Given the description of an element on the screen output the (x, y) to click on. 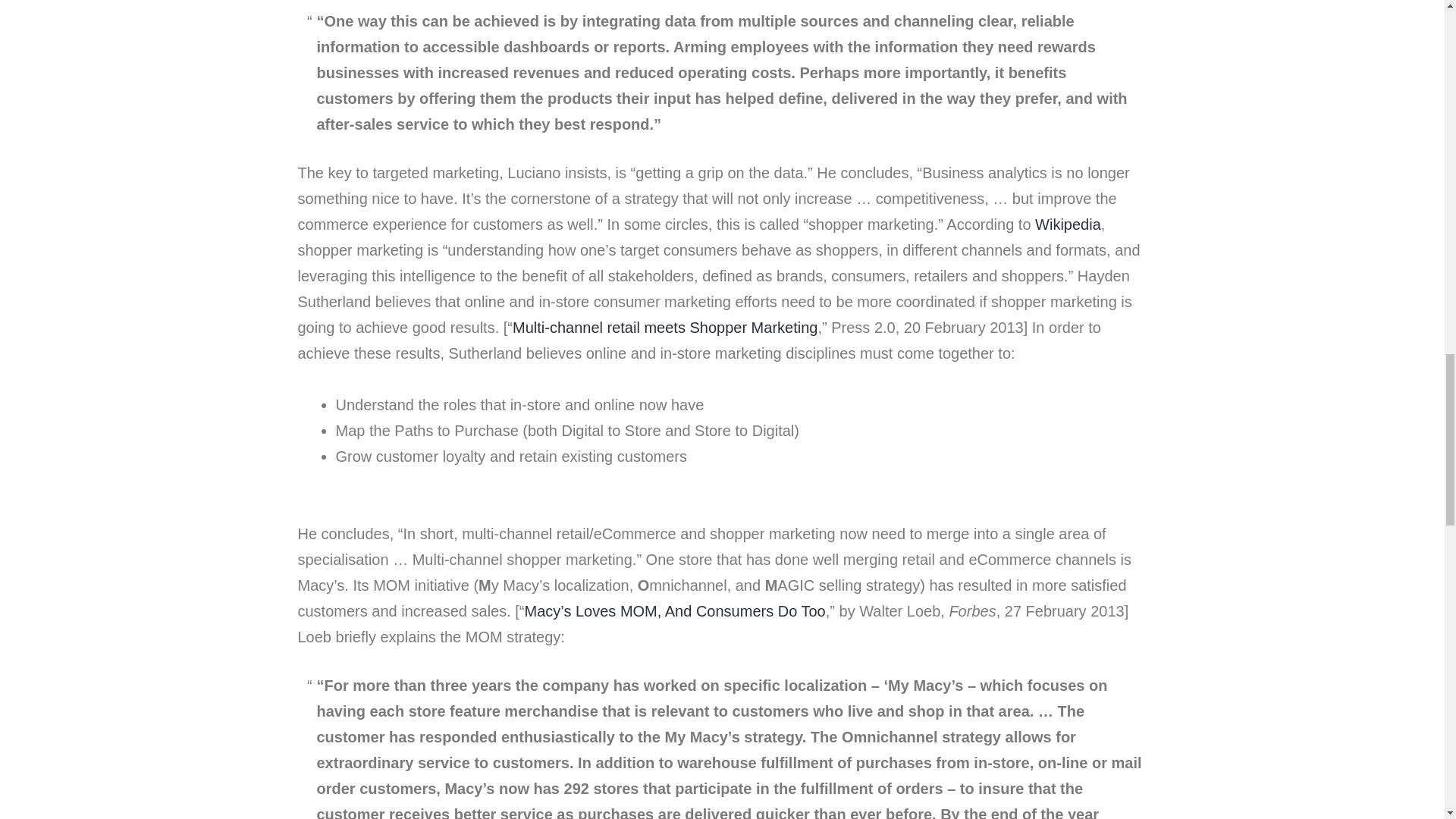
Macy's Loves MOM, And Consumers Do Too (674, 610)
Multi-channel retail meets Shopper Marketing (664, 327)
Wikipedia (1067, 224)
